Given the description of an element on the screen output the (x, y) to click on. 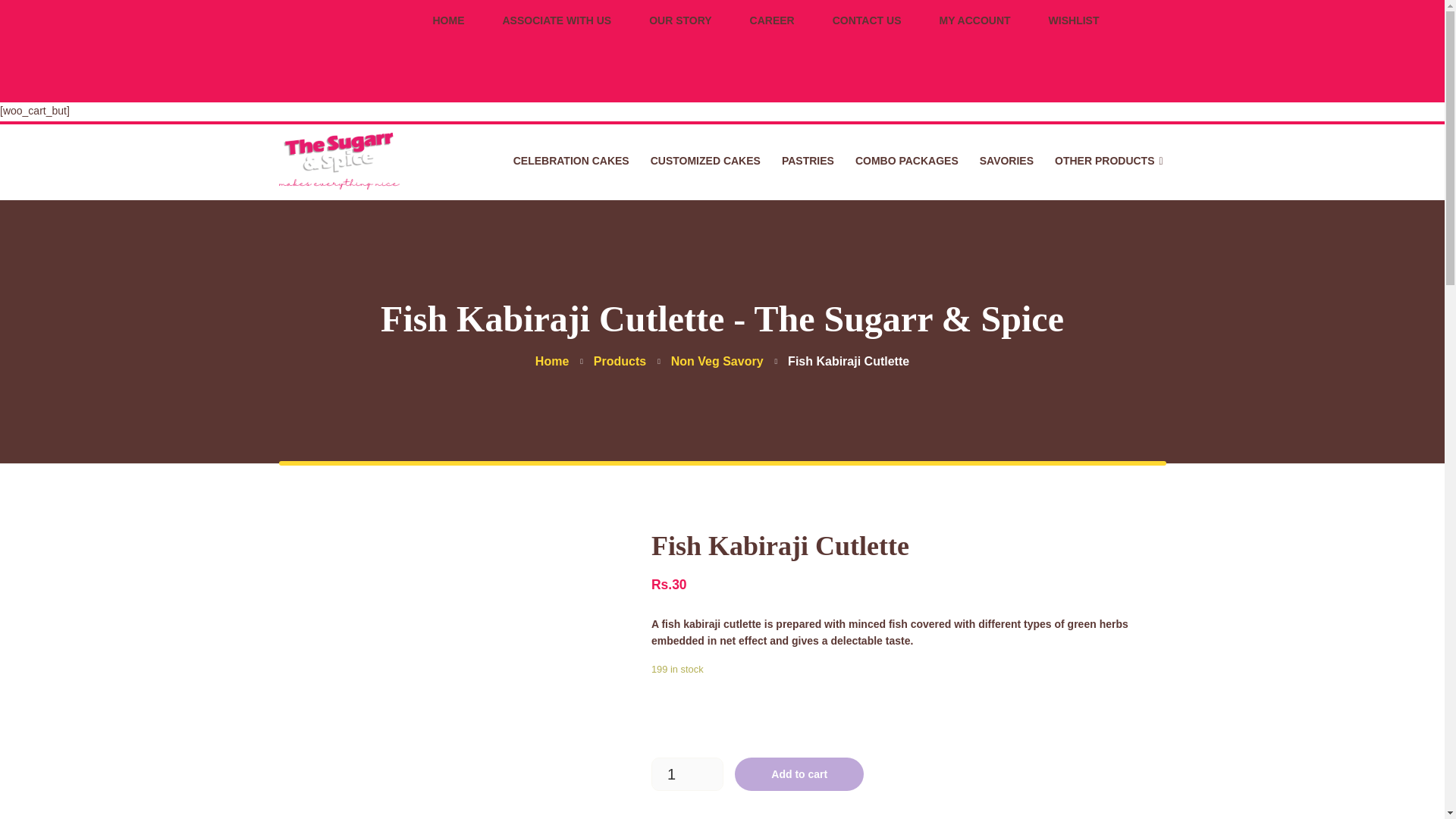
WISHLIST (1073, 20)
Home (552, 360)
OUR STORY (680, 20)
MY ACCOUNT (974, 20)
OTHER PRODUCTS (1098, 160)
SAVORIES (1006, 160)
ASSOCIATE WITH US (556, 20)
Go to Home. (552, 360)
Go to the Non Veg Savory Category archives. (716, 360)
Add to cart (799, 774)
CUSTOMIZED CAKES (705, 160)
CELEBRATION CAKES (571, 160)
1 (686, 774)
Products (620, 360)
CONTACT US (866, 20)
